Given the description of an element on the screen output the (x, y) to click on. 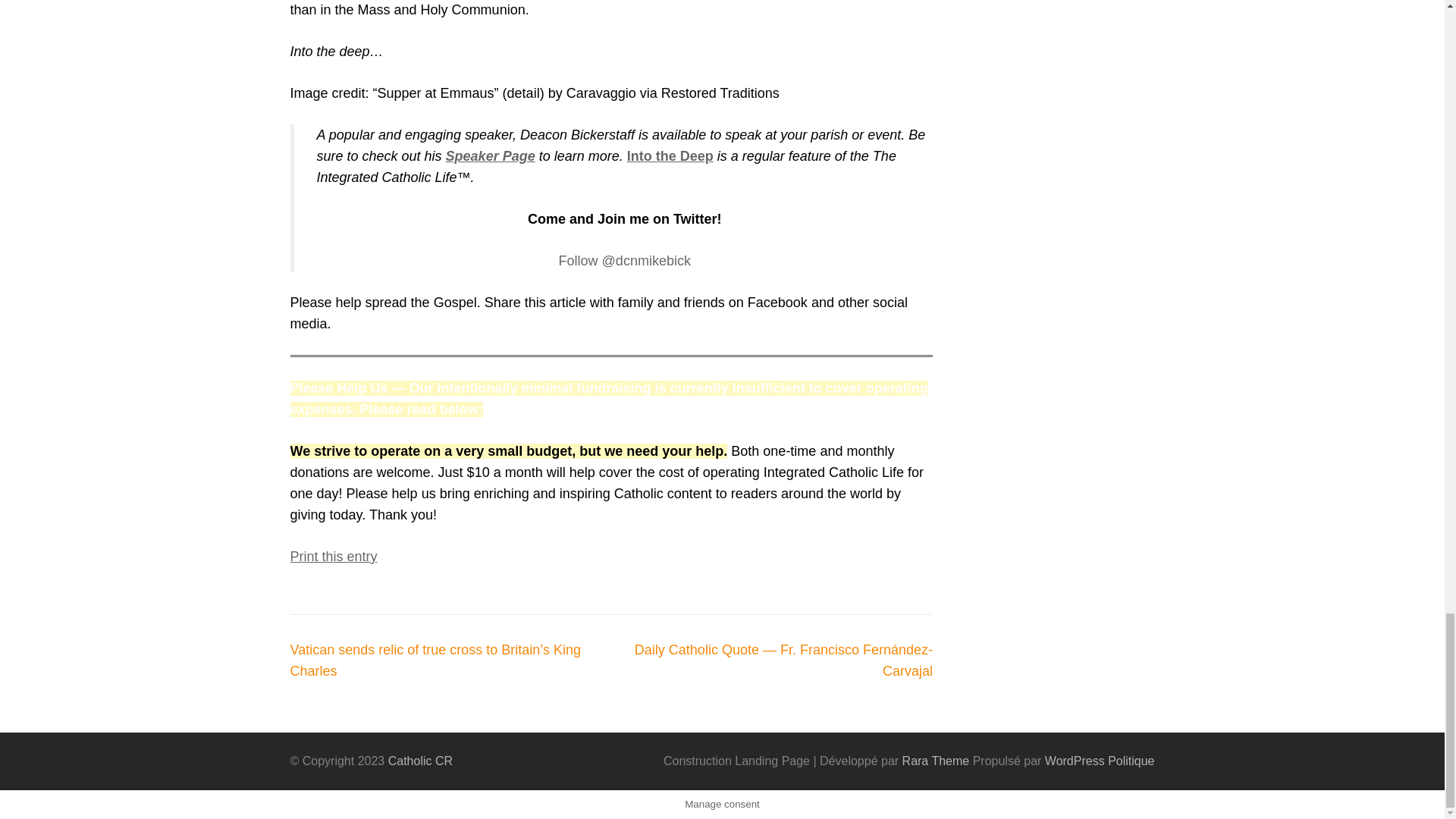
Speaker Page (490, 155)
Into the Deep (670, 155)
Print this entry (333, 556)
